Given the description of an element on the screen output the (x, y) to click on. 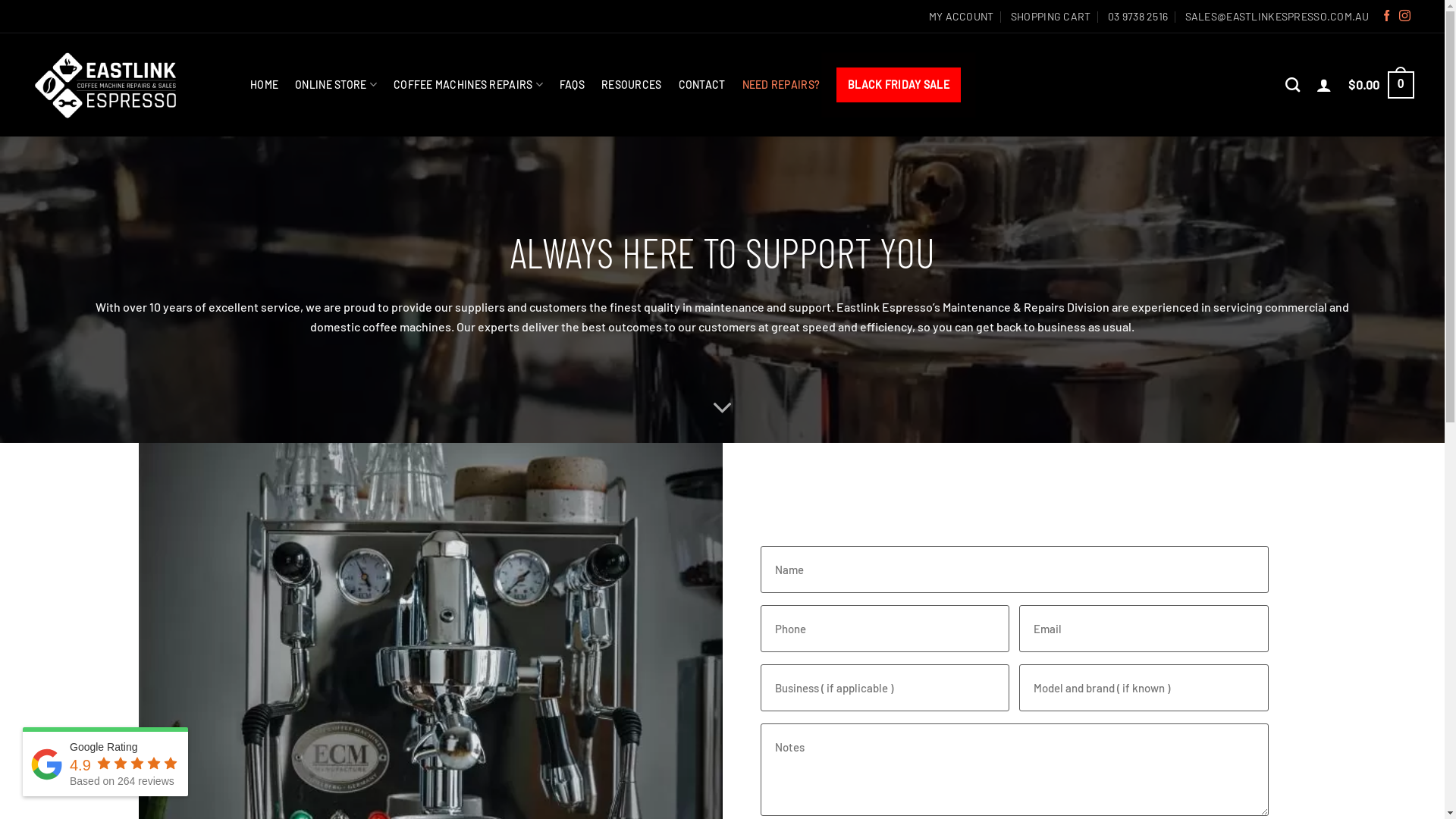
Follow on Facebook Element type: hover (1386, 15)
Skip to content Element type: text (0, 0)
RESOURCES Element type: text (631, 84)
$0.00
0 Element type: text (1381, 84)
COFFEE MACHINES REPAIRS Element type: text (467, 84)
CONTACT Element type: text (701, 84)
ONLINE STORE Element type: text (335, 84)
Eastlink Espresso - Coffee Machine Repairs & Retail Element type: hover (106, 84)
HOME Element type: text (264, 84)
MY ACCOUNT Element type: text (961, 15)
SHOPPING CART Element type: text (1050, 15)
NEED REPAIRS? Element type: text (781, 84)
03 9738 2516 Element type: text (1137, 15)
BLACK FRIDAY SALE Element type: text (898, 84)
SALES@EASTLINKESPRESSO.COM.AU Element type: text (1277, 15)
Follow on Instagram Element type: hover (1404, 15)
FAQS Element type: text (571, 84)
